Given the description of an element on the screen output the (x, y) to click on. 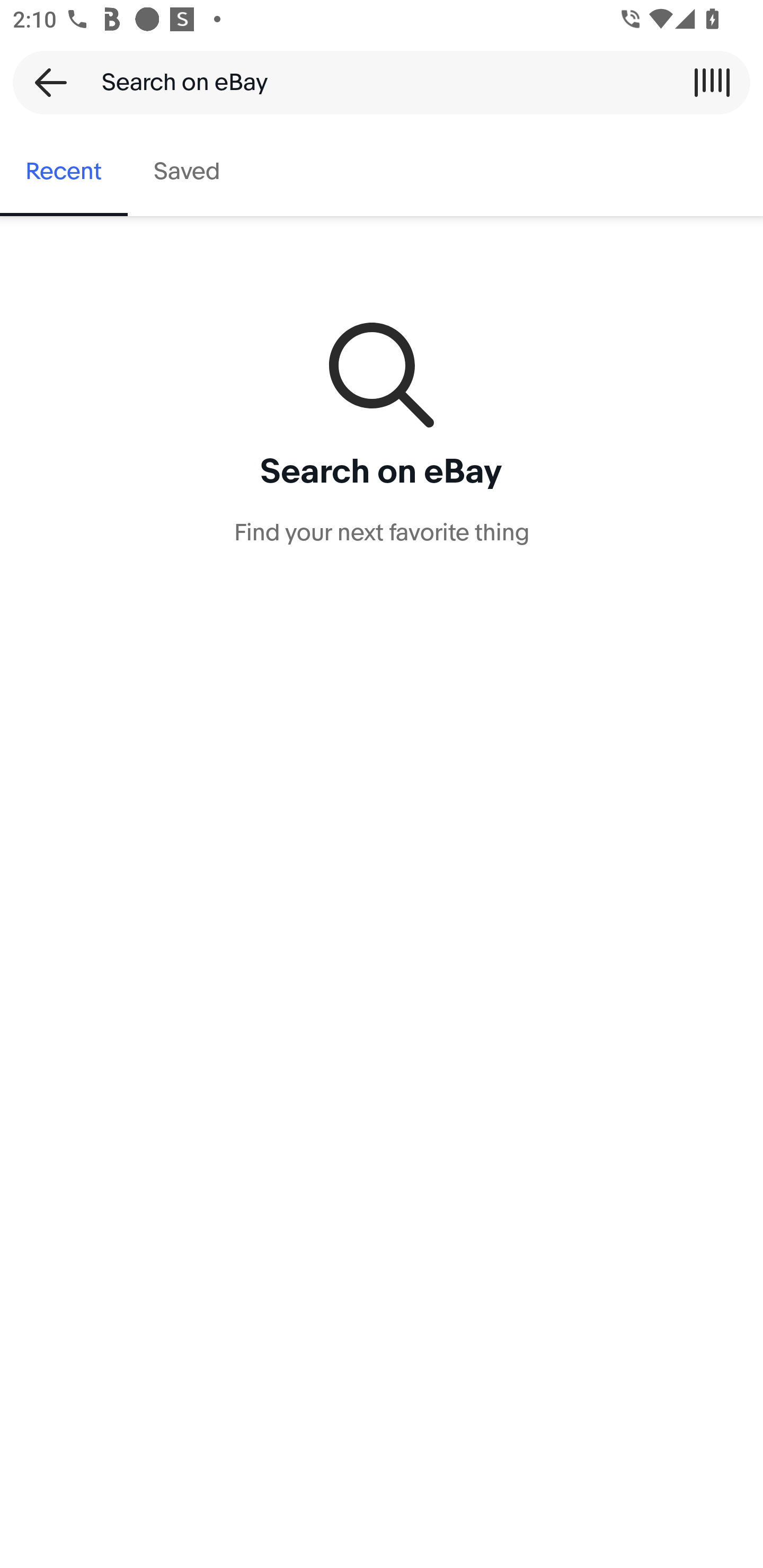
Back (44, 82)
Scan a barcode (711, 82)
Search on eBay (375, 82)
Saved, tab 2 of 2 Saved (186, 171)
